Given the description of an element on the screen output the (x, y) to click on. 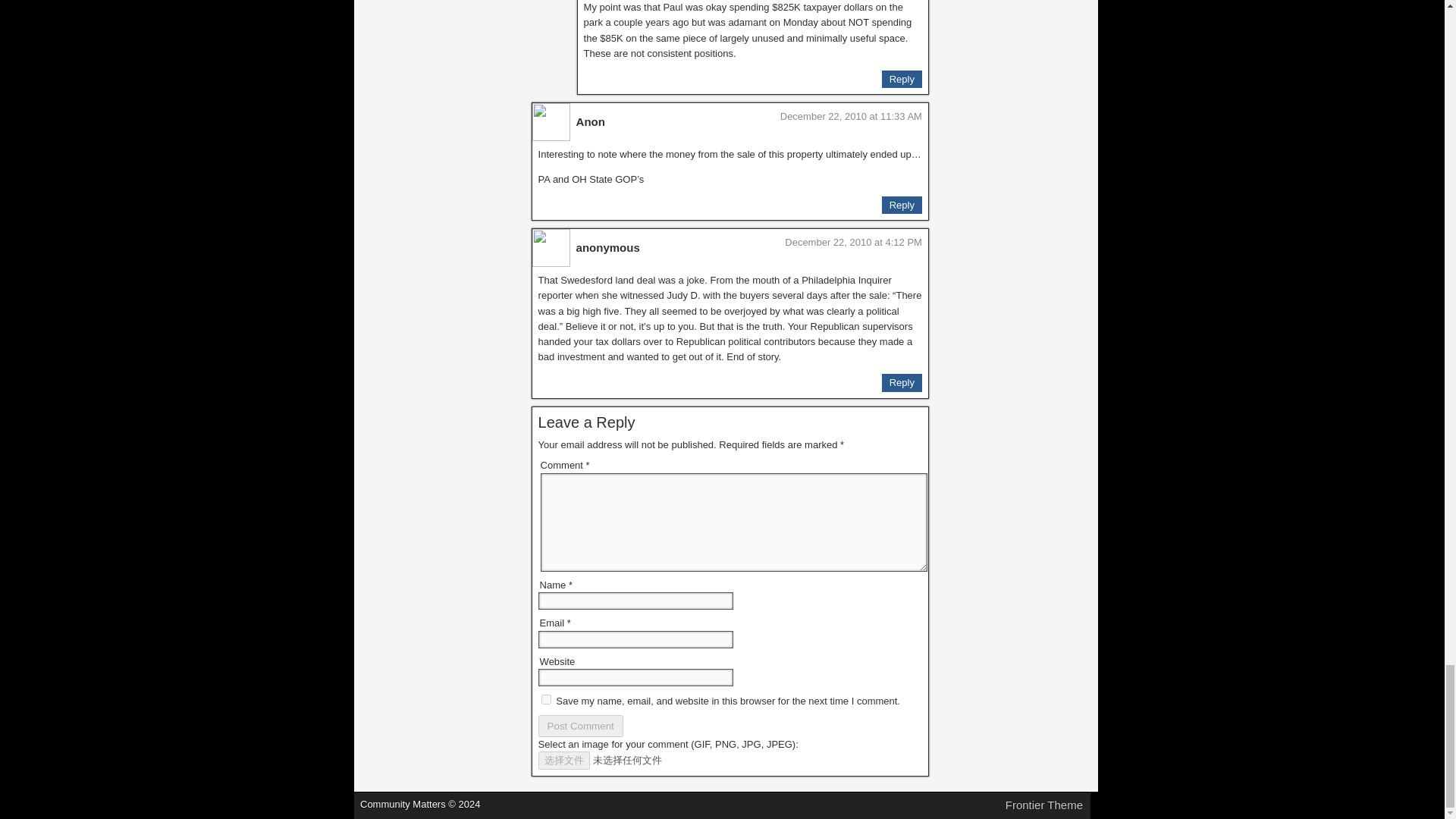
Post Comment (580, 725)
yes (546, 699)
